Given the description of an element on the screen output the (x, y) to click on. 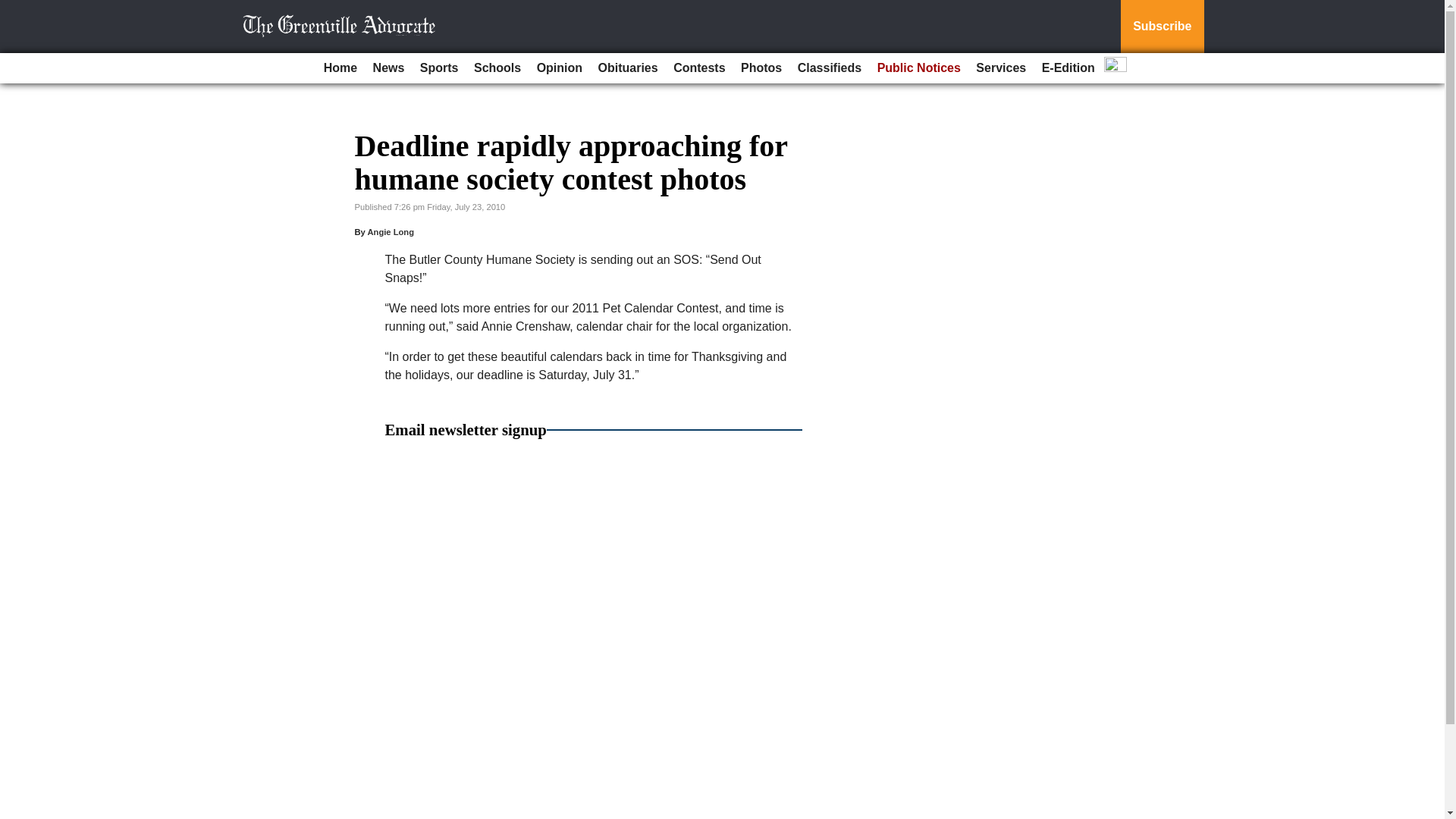
Classifieds (829, 68)
Schools (497, 68)
Services (1000, 68)
Subscribe (1162, 26)
Home (339, 68)
Obituaries (627, 68)
Photos (761, 68)
Public Notices (918, 68)
Go (13, 9)
Contests (698, 68)
